Given the description of an element on the screen output the (x, y) to click on. 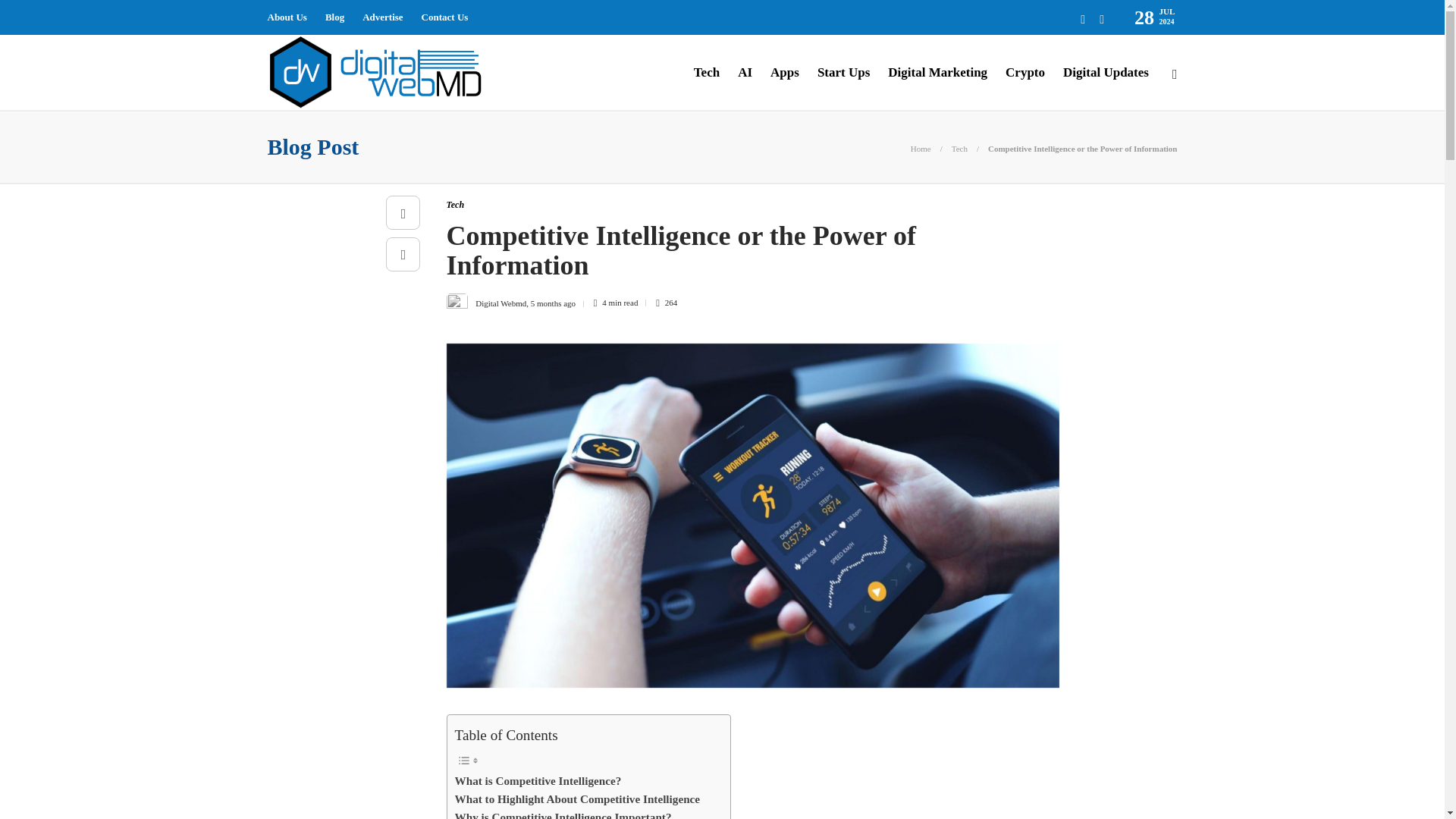
Digital Updates (1105, 72)
Competitive Intelligence or the Power of Information (740, 254)
Home (921, 148)
Tech (960, 148)
Tech (454, 204)
What to Highlight About Competitive Intelligence (577, 799)
Digital Marketing (937, 72)
Why is Competitive Intelligence Important? (562, 813)
Contact Us (445, 17)
About Us (285, 17)
Competitive Intelligence or the Power of Information (1082, 148)
Advertise (382, 17)
Start Ups (842, 72)
What is Competitive Intelligence? (537, 781)
Home (921, 148)
